Given the description of an element on the screen output the (x, y) to click on. 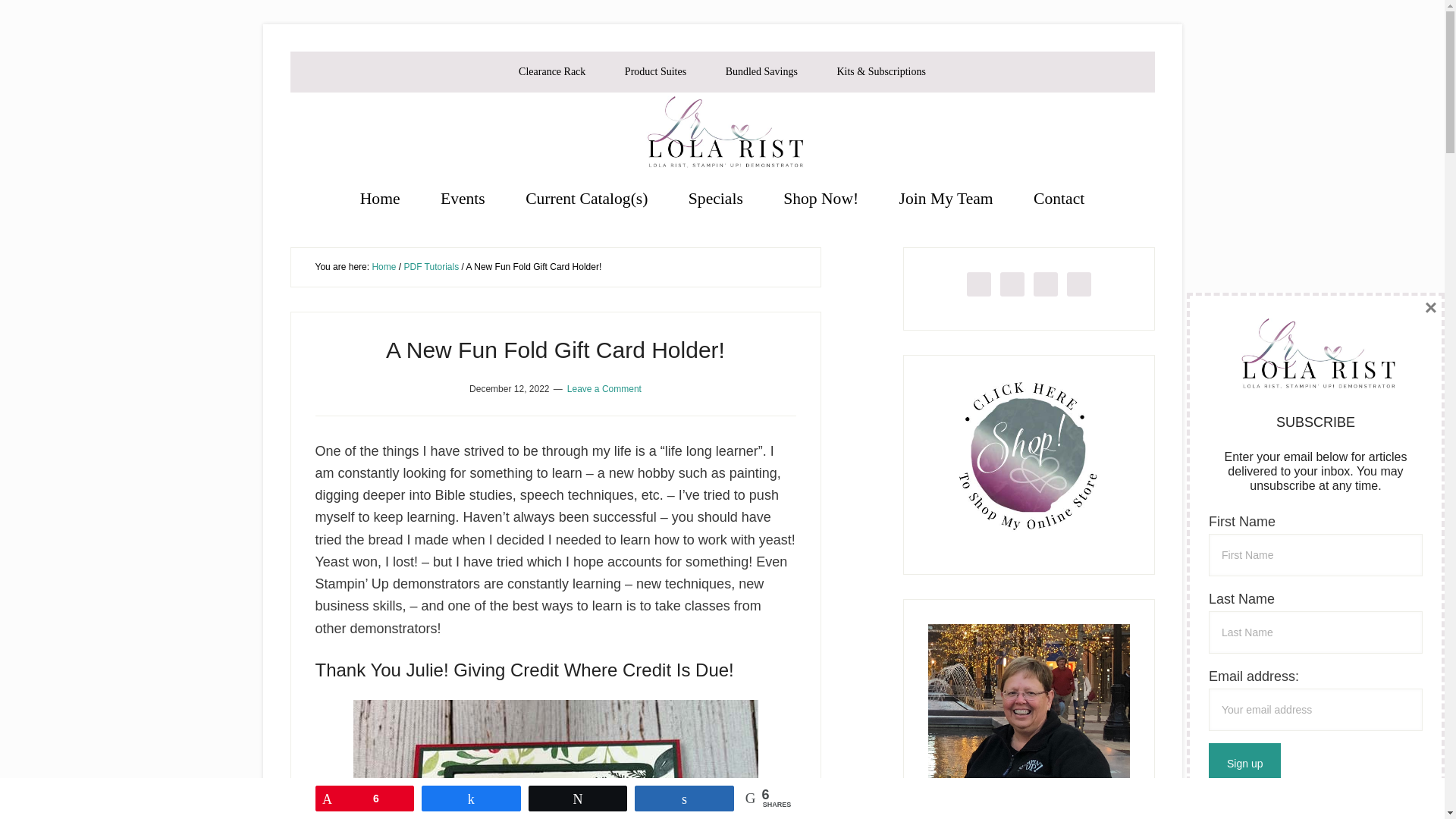
Contact (1058, 199)
Home (383, 266)
Product Suites (655, 71)
Clearance Rack (552, 71)
Join My Team (945, 199)
Shop Now! (820, 199)
Events (462, 199)
Bundled Savings (761, 71)
Lola Rist, Stampin' Up! Demonstrator (721, 134)
Home (380, 199)
PDF Tutorials (430, 266)
Specials (715, 199)
Leave a Comment (604, 388)
Sign up (1244, 763)
